Given the description of an element on the screen output the (x, y) to click on. 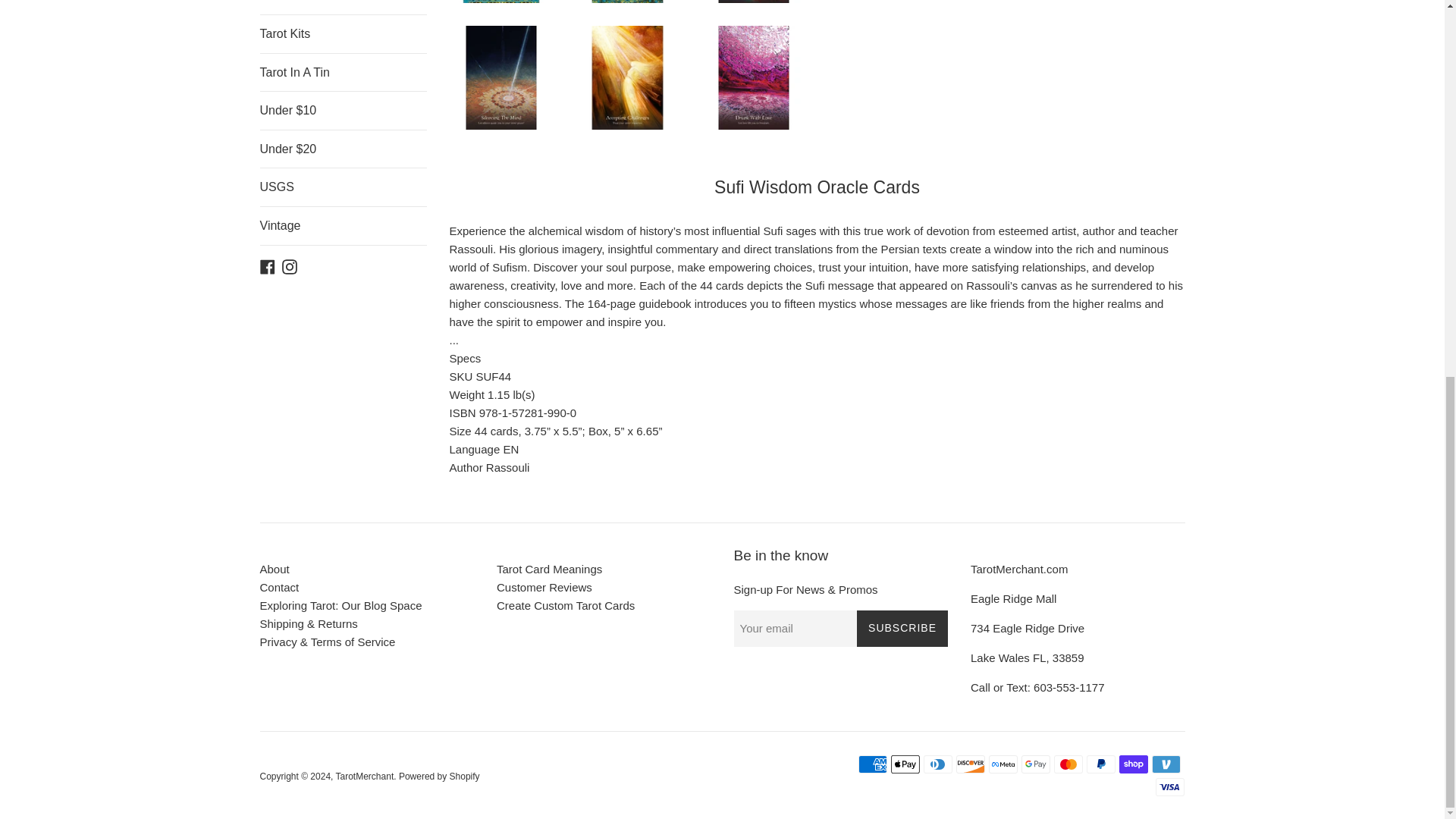
Tarot In A Tin (342, 72)
Meta Pay (1002, 764)
Shop Pay (1133, 764)
Venmo (1165, 764)
TarotMerchant on Instagram (289, 265)
Visa (1170, 787)
Facebook (267, 265)
Apple Pay (905, 764)
Diners Club (937, 764)
Instagram (289, 265)
